Given the description of an element on the screen output the (x, y) to click on. 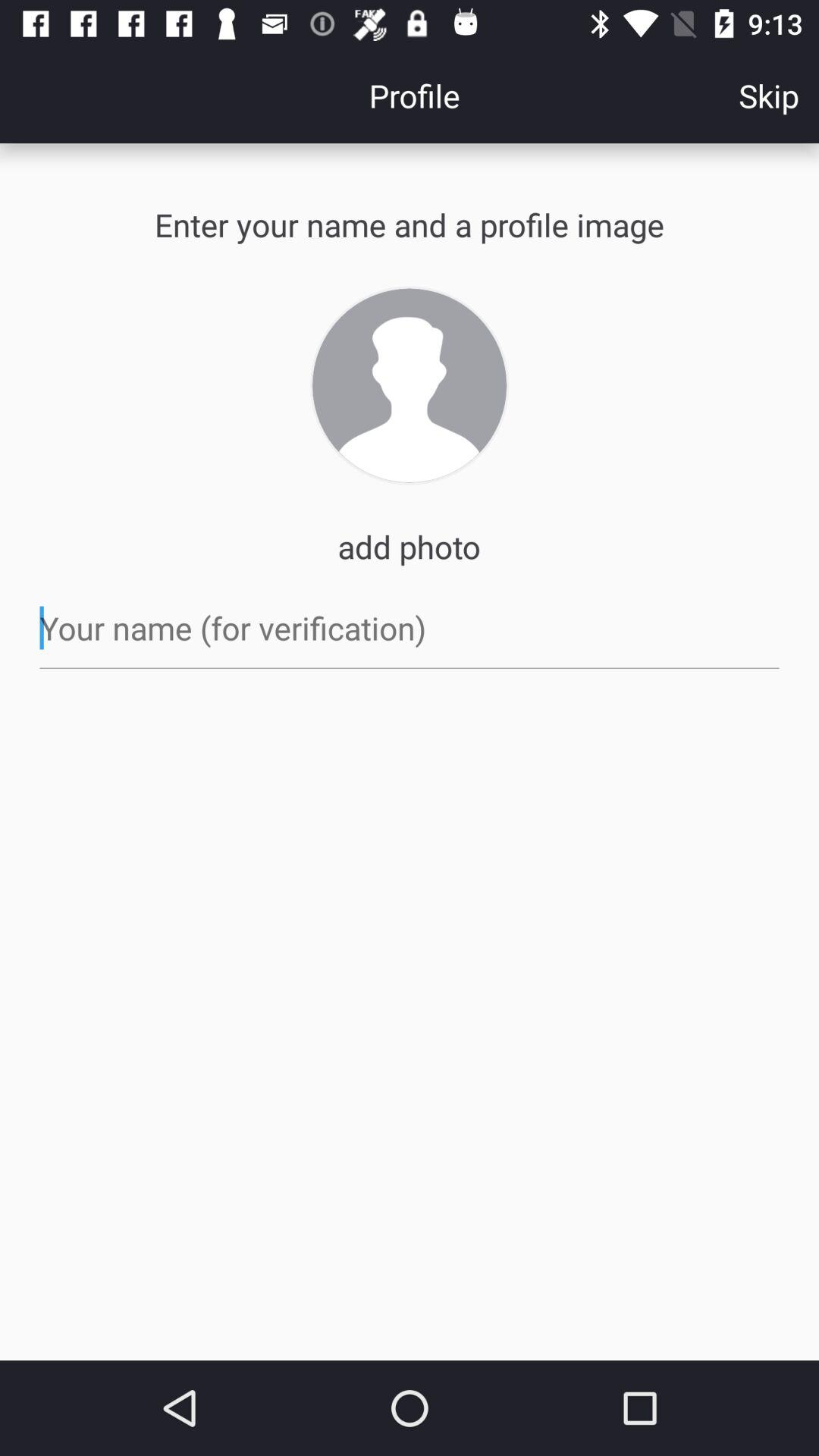
enter name (409, 627)
